Given the description of an element on the screen output the (x, y) to click on. 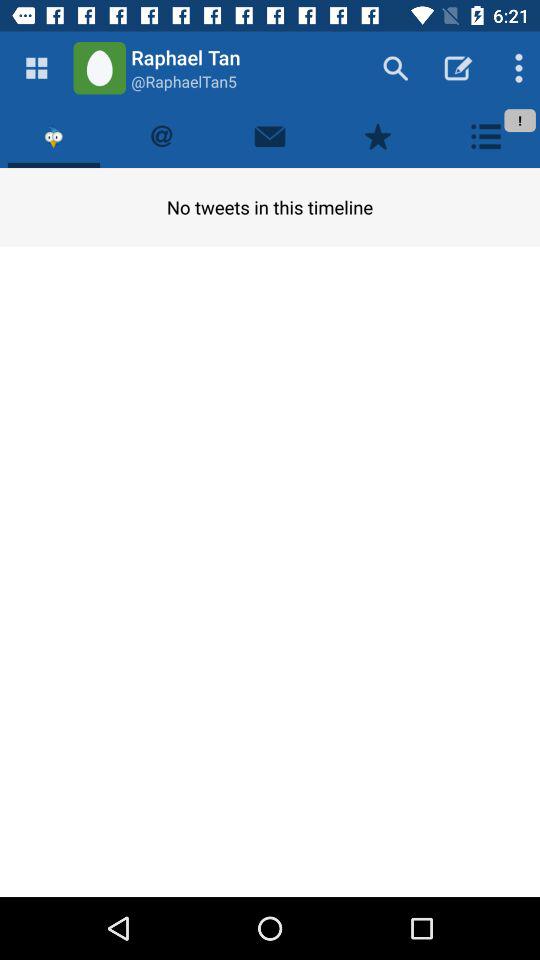
bookmark (378, 136)
